Given the description of an element on the screen output the (x, y) to click on. 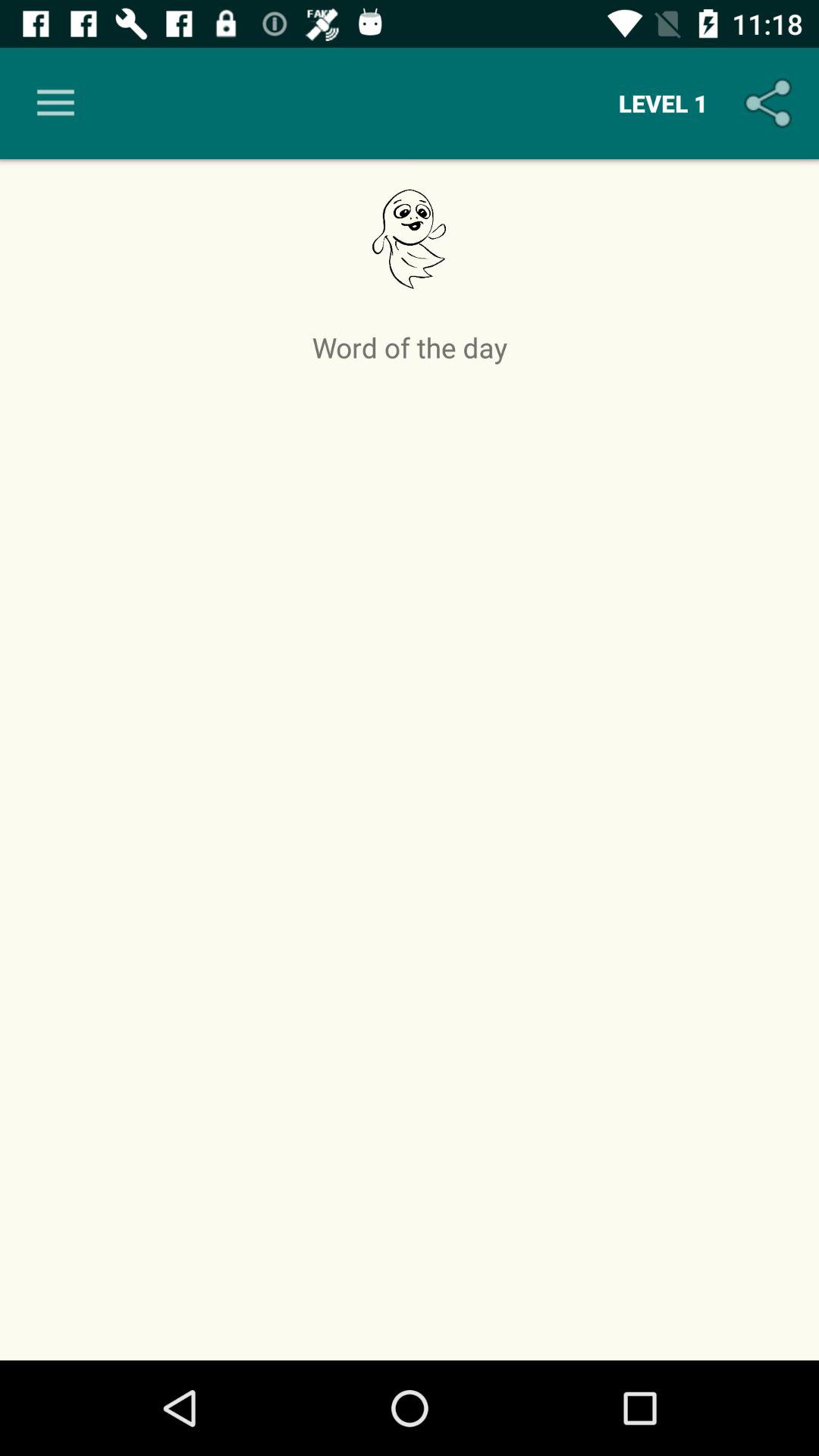
tap icon above the word of the (55, 103)
